Given the description of an element on the screen output the (x, y) to click on. 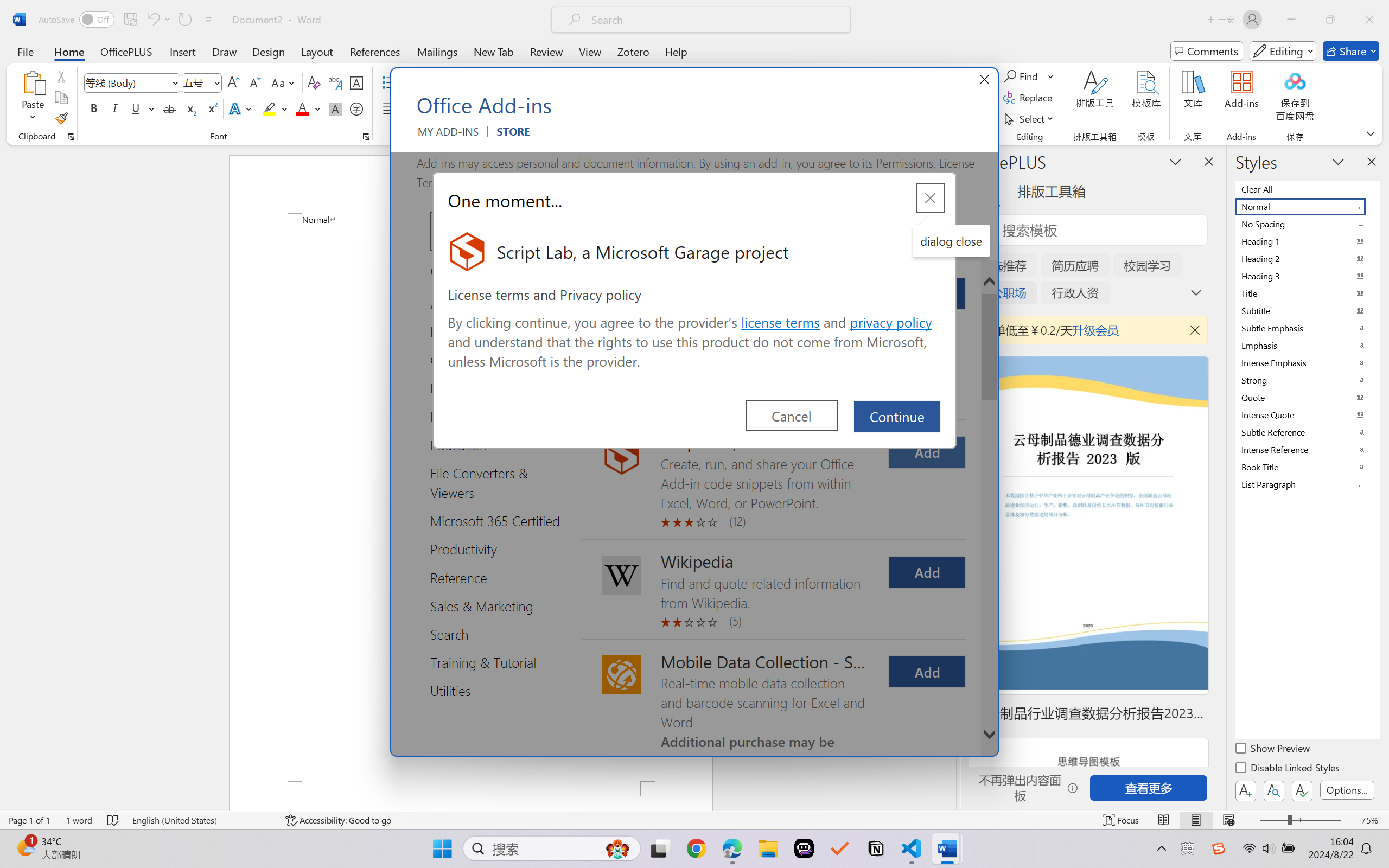
View (589, 51)
Help (675, 51)
Mode (1283, 50)
Read Mode (1163, 819)
Underline (135, 108)
Draw (224, 51)
Clear Formatting (313, 82)
Font Size (196, 82)
Font... (365, 136)
